Given the description of an element on the screen output the (x, y) to click on. 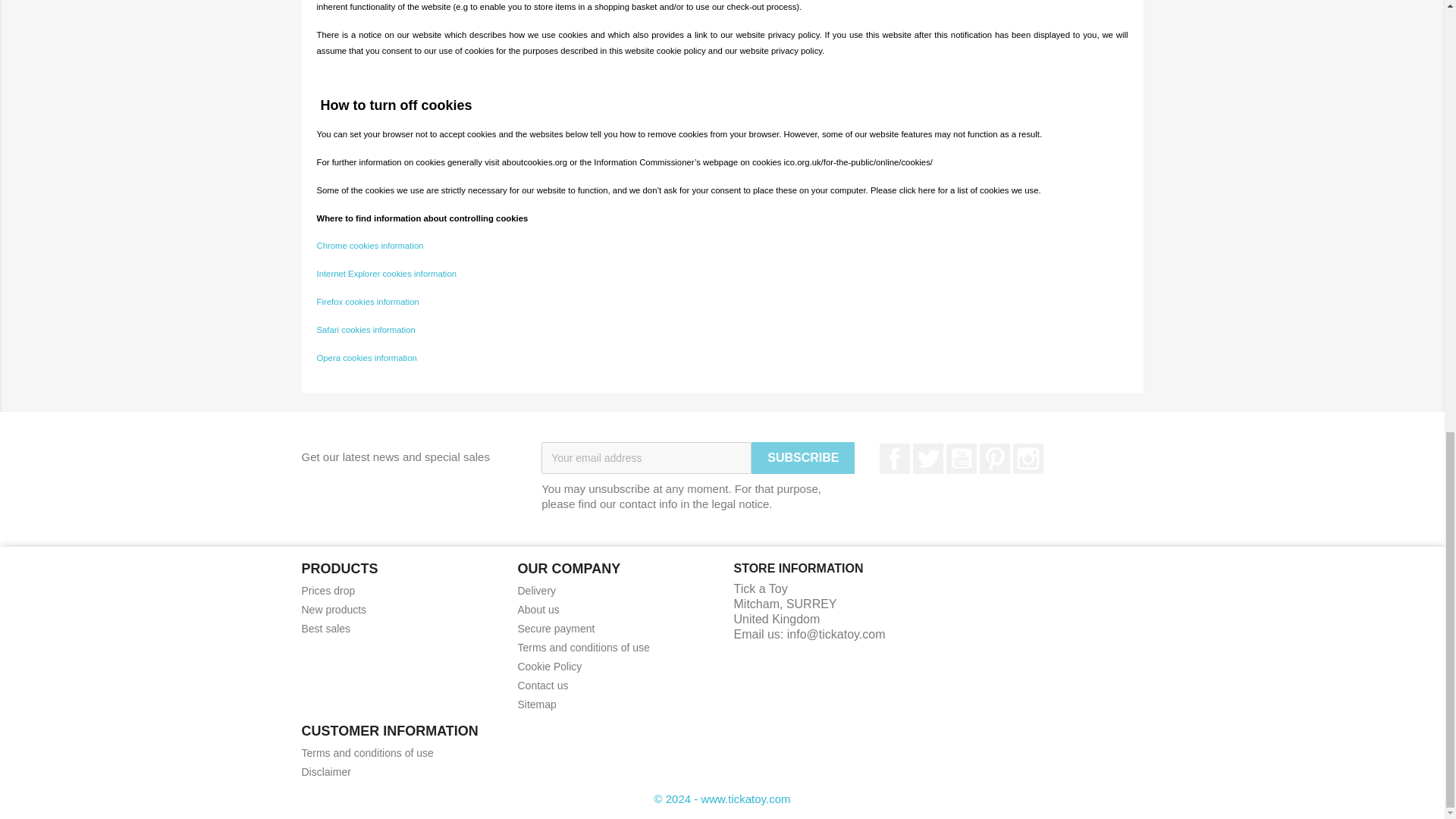
Our terms and conditions of use (582, 647)
Our best sales (325, 628)
Lost ? Find what your are looking for (536, 704)
Our terms and conditions of use (367, 752)
Contact us (541, 685)
Best sales (325, 628)
YouTube (961, 458)
Use our form to contact us (541, 685)
Internet Explorer cookies information (387, 272)
Firefox cookies information (368, 300)
